Given the description of an element on the screen output the (x, y) to click on. 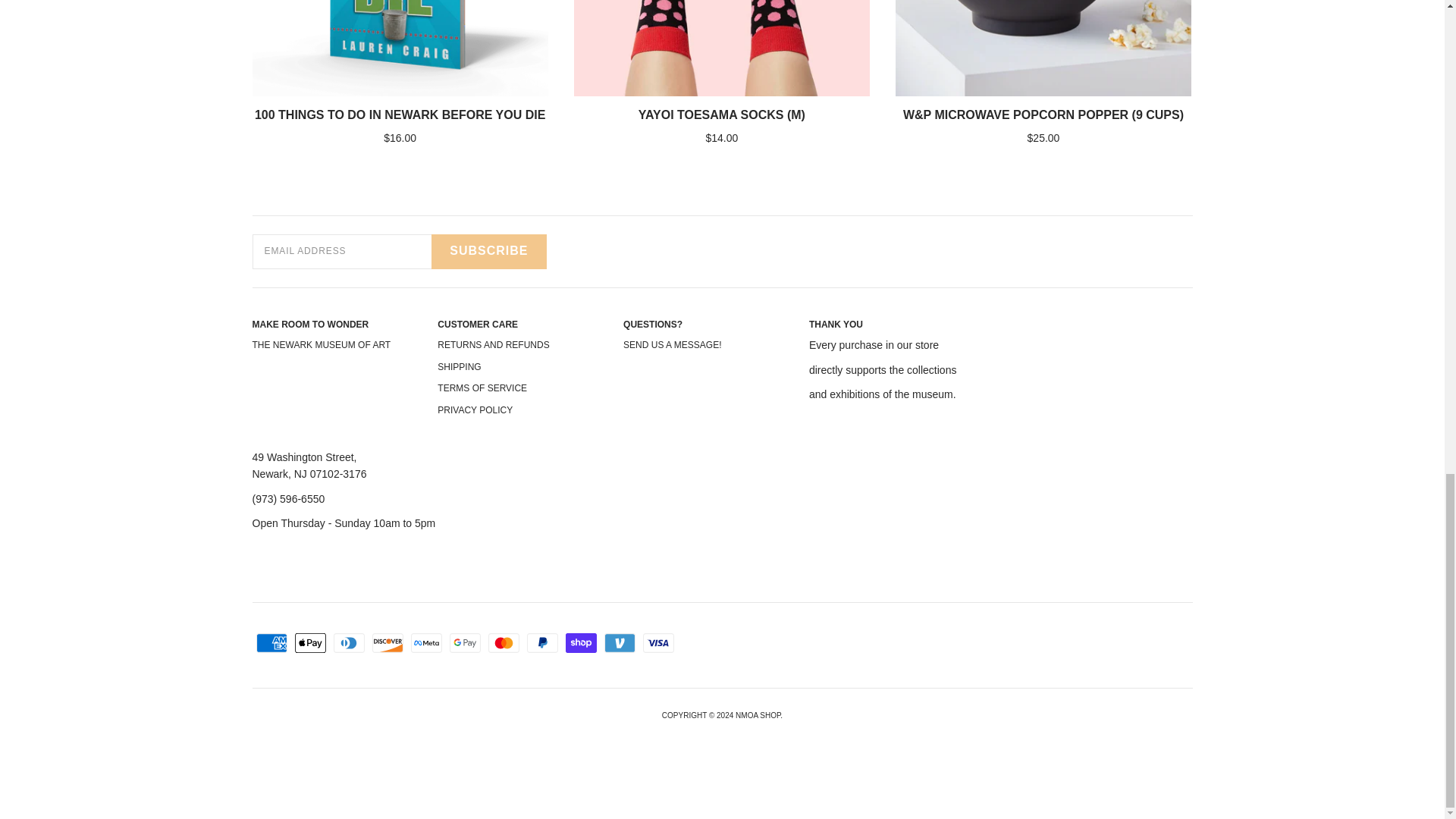
Visa (658, 642)
Apple Pay (309, 642)
Shop Pay (581, 642)
Discover (387, 642)
PayPal (541, 642)
American Express (271, 642)
Mastercard (503, 642)
Diners Club (349, 642)
Google Pay (464, 642)
Meta Pay (426, 642)
Venmo (619, 642)
